Given the description of an element on the screen output the (x, y) to click on. 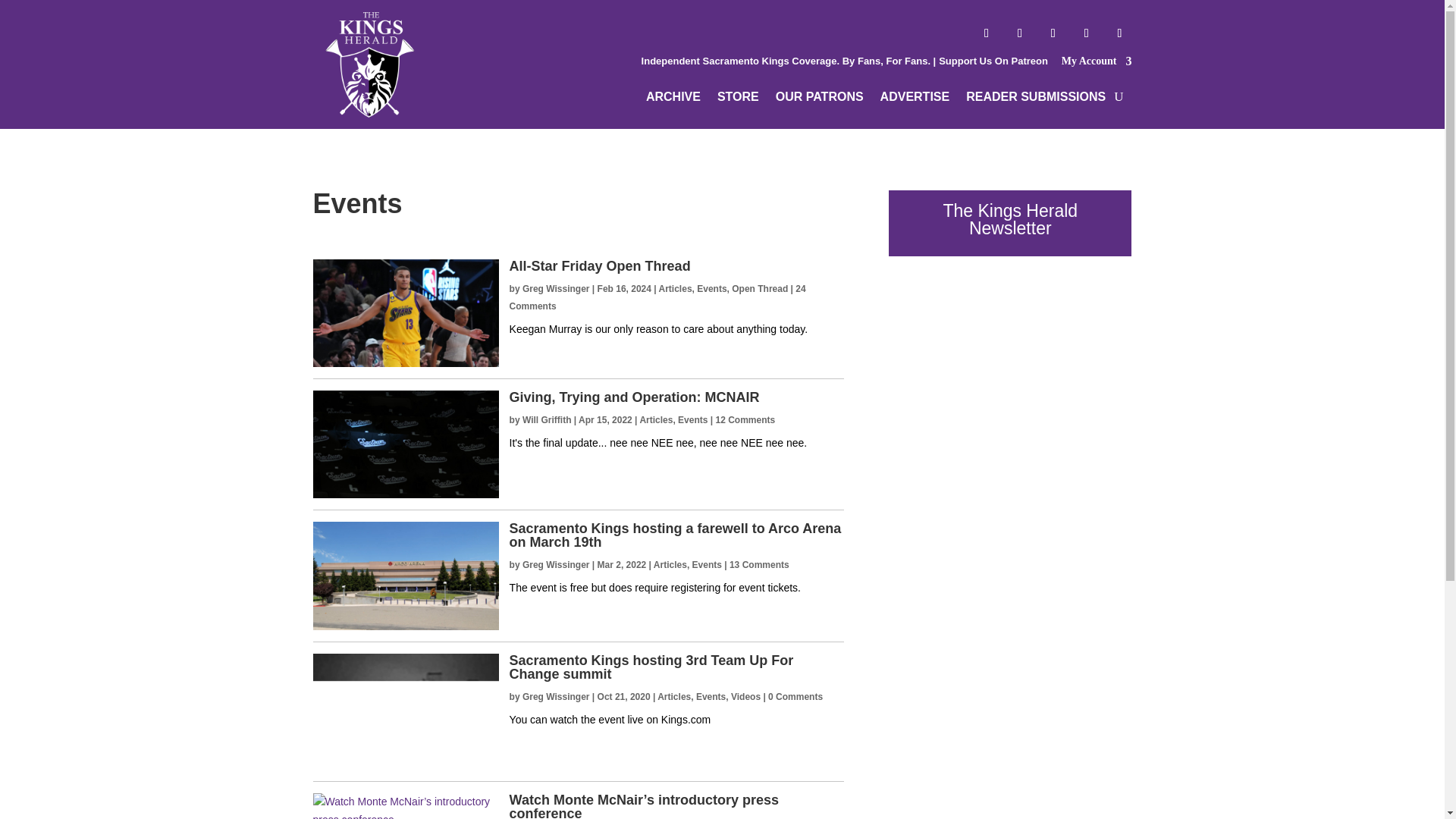
My Account (1096, 65)
Greg Wissinger (555, 288)
Articles (676, 288)
Follow on Twitter (1019, 33)
Will Griffith (547, 419)
Events (711, 288)
ARCHIVE (673, 98)
READER SUBMISSIONS (1035, 98)
Follow on Youtube (1086, 33)
